Given the description of an element on the screen output the (x, y) to click on. 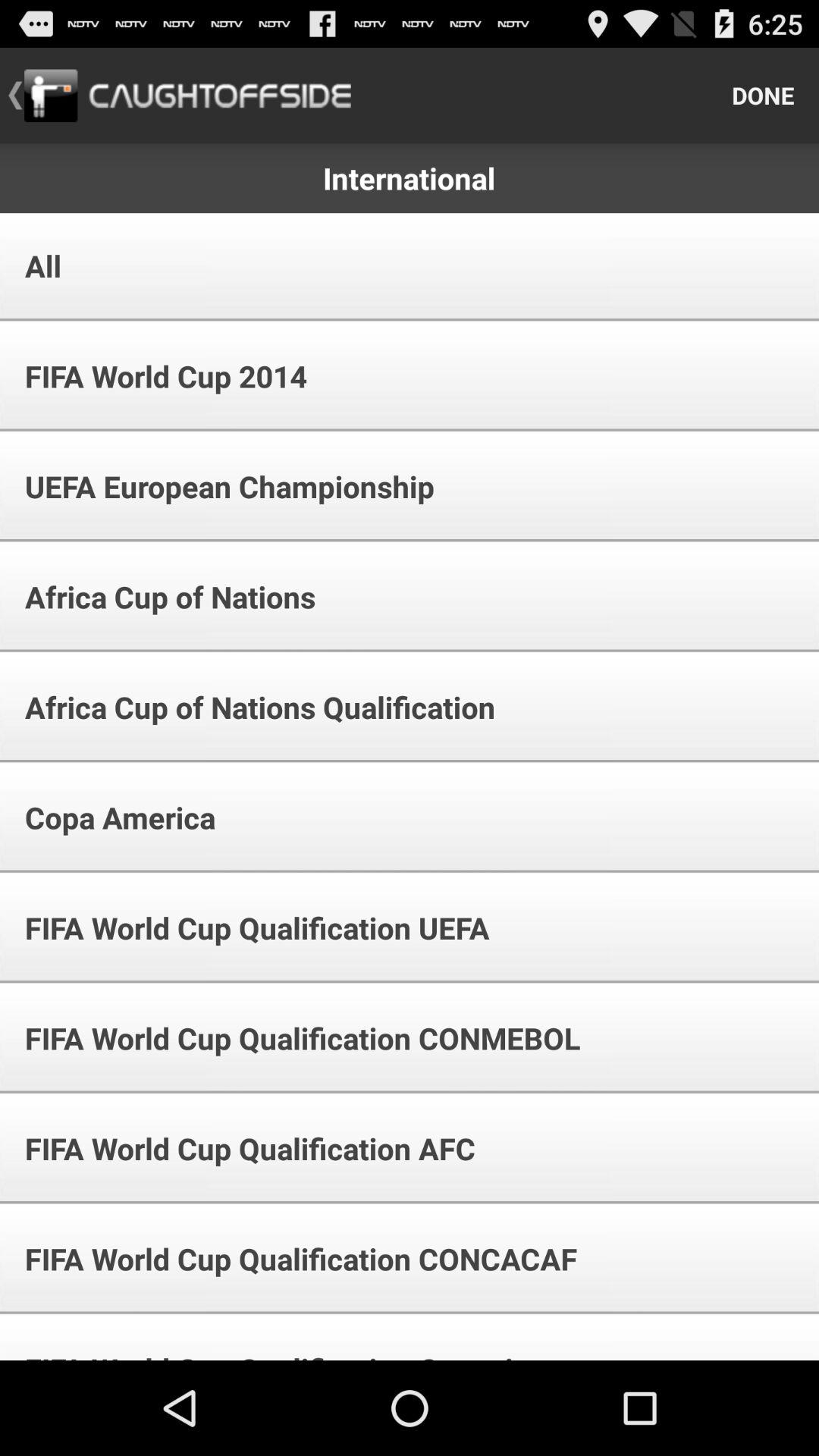
open copa america (110, 817)
